Given the description of an element on the screen output the (x, y) to click on. 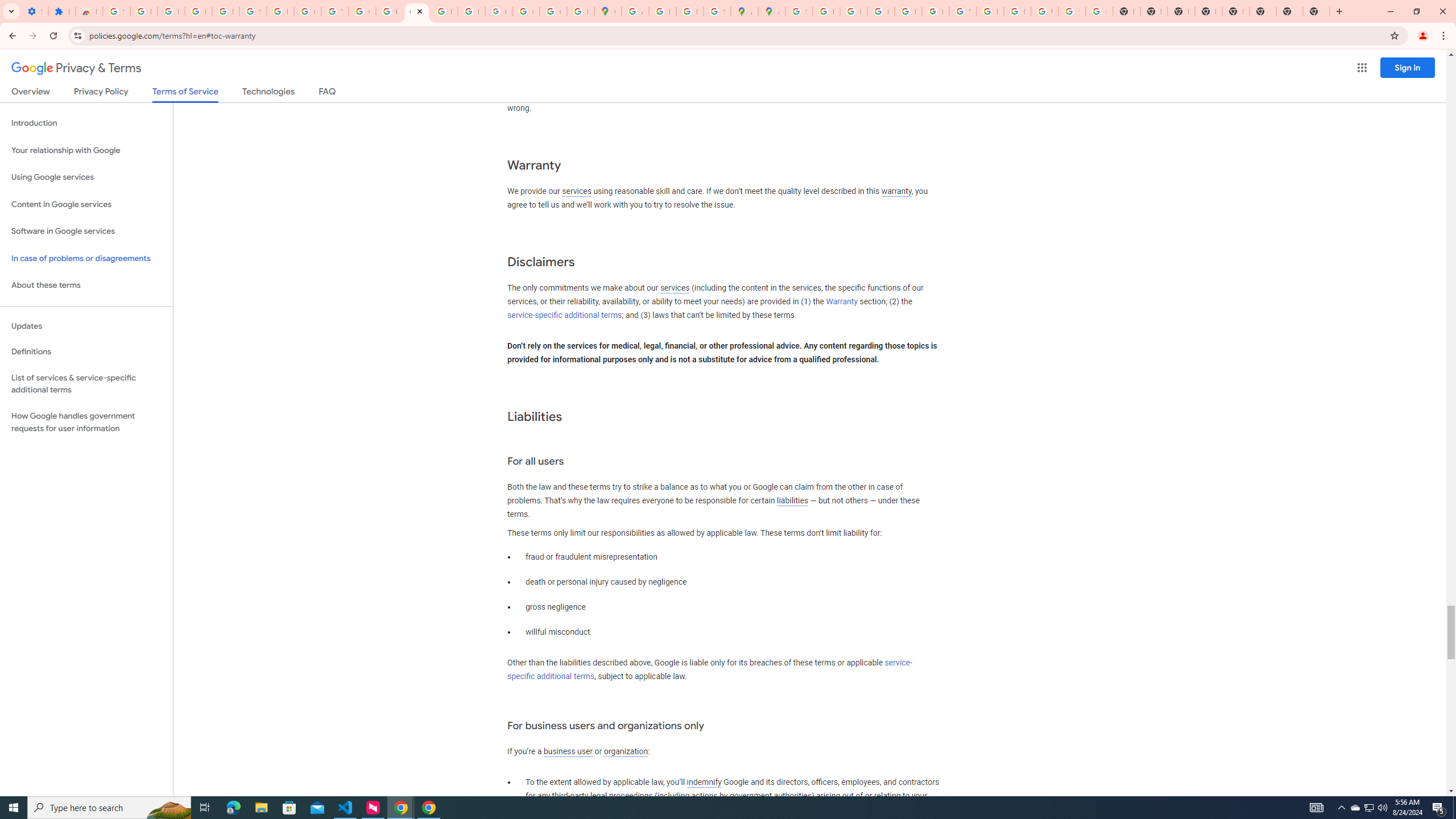
Sign in - Google Accounts (253, 11)
New Tab (1289, 11)
warranty (895, 191)
YouTube (962, 11)
In case of problems or disagreements (86, 258)
Privacy Help Center - Policies Help (880, 11)
Using Google services (86, 176)
